Given the description of an element on the screen output the (x, y) to click on. 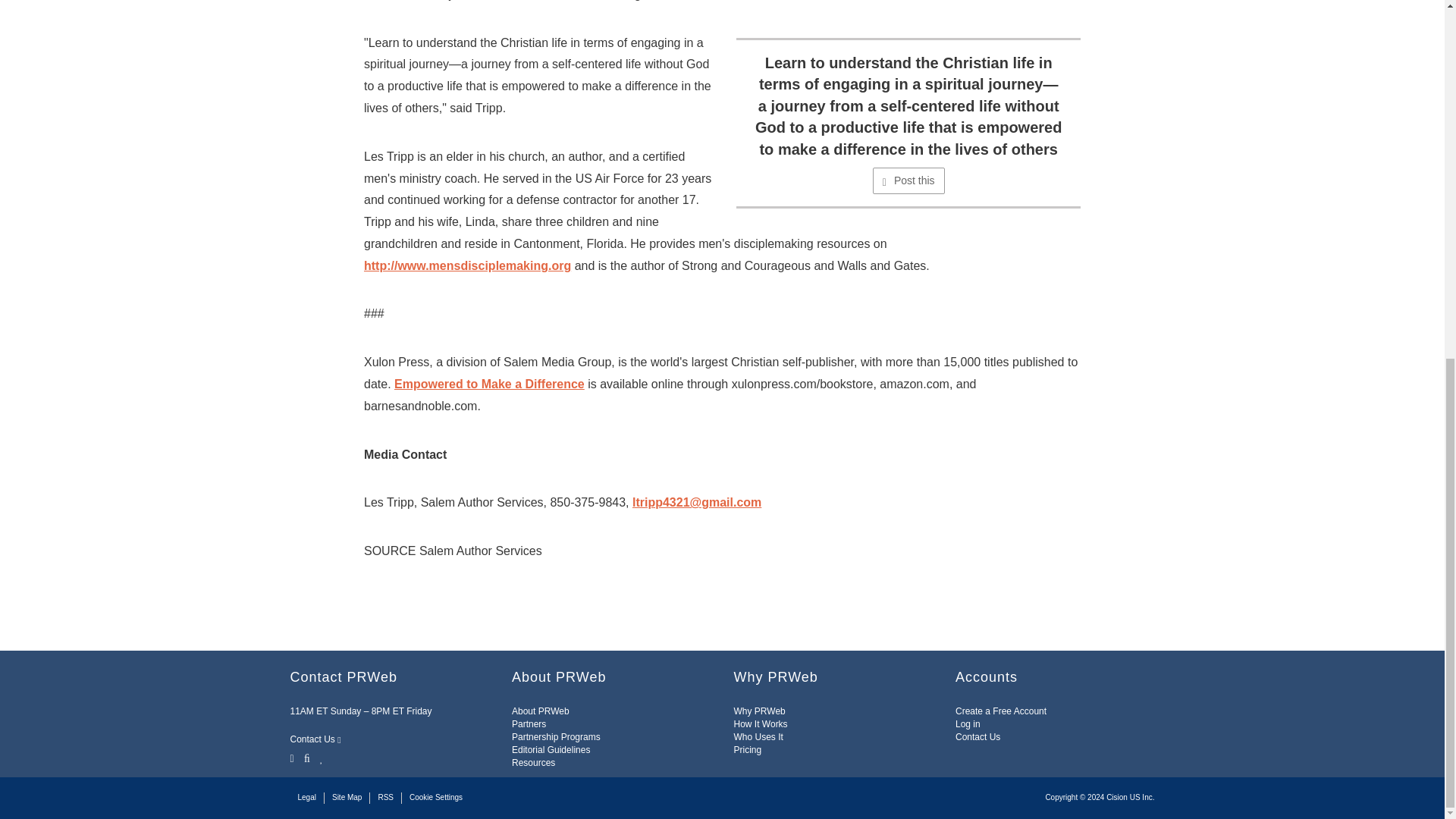
Who Uses It (758, 737)
Partnership Programs (555, 737)
How It Works (760, 724)
About PRWeb (540, 710)
Partners (529, 724)
Facebook (306, 757)
Resources (533, 762)
Why PRWeb (759, 710)
Editorial Guidelines (550, 749)
